Given the description of an element on the screen output the (x, y) to click on. 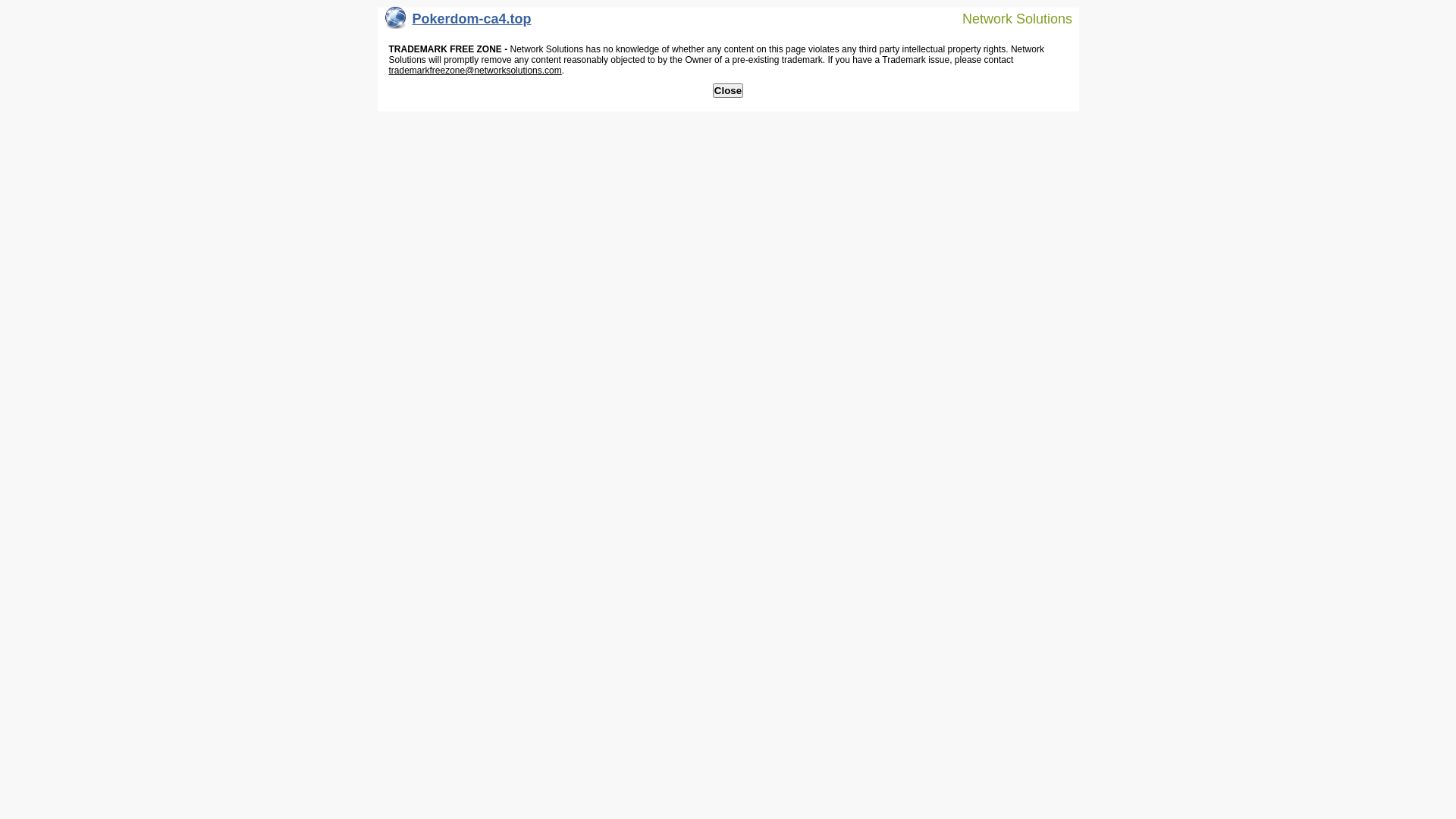
Close Element type: text (727, 90)
trademarkfreezone@networksolutions.com Element type: text (474, 70)
Pokerdom-ca4.top Element type: text (458, 21)
Network Solutions Element type: text (1007, 17)
